Given the description of an element on the screen output the (x, y) to click on. 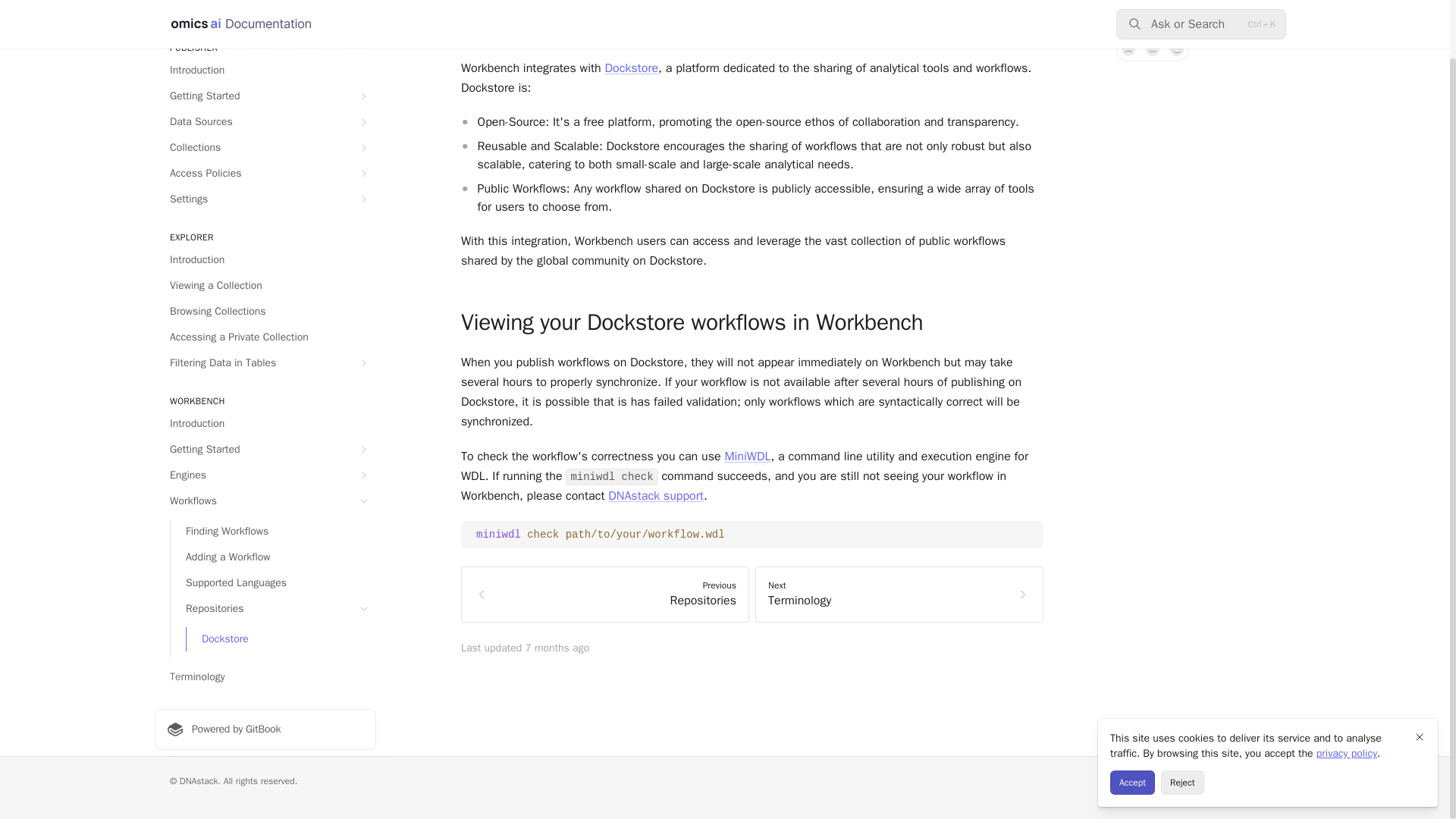
Introduction (264, 259)
Accessing a Private Collection (264, 337)
Settings (264, 199)
Access Policies (264, 173)
Browsing Collections (264, 311)
No (1128, 48)
Viewing a Collection (264, 285)
Overview (264, 11)
Data Sources (264, 121)
Introduction (264, 70)
Not sure (1152, 48)
Filtering Data in Tables (264, 363)
Introduction (264, 423)
Getting Started (264, 96)
Close (1419, 674)
